Given the description of an element on the screen output the (x, y) to click on. 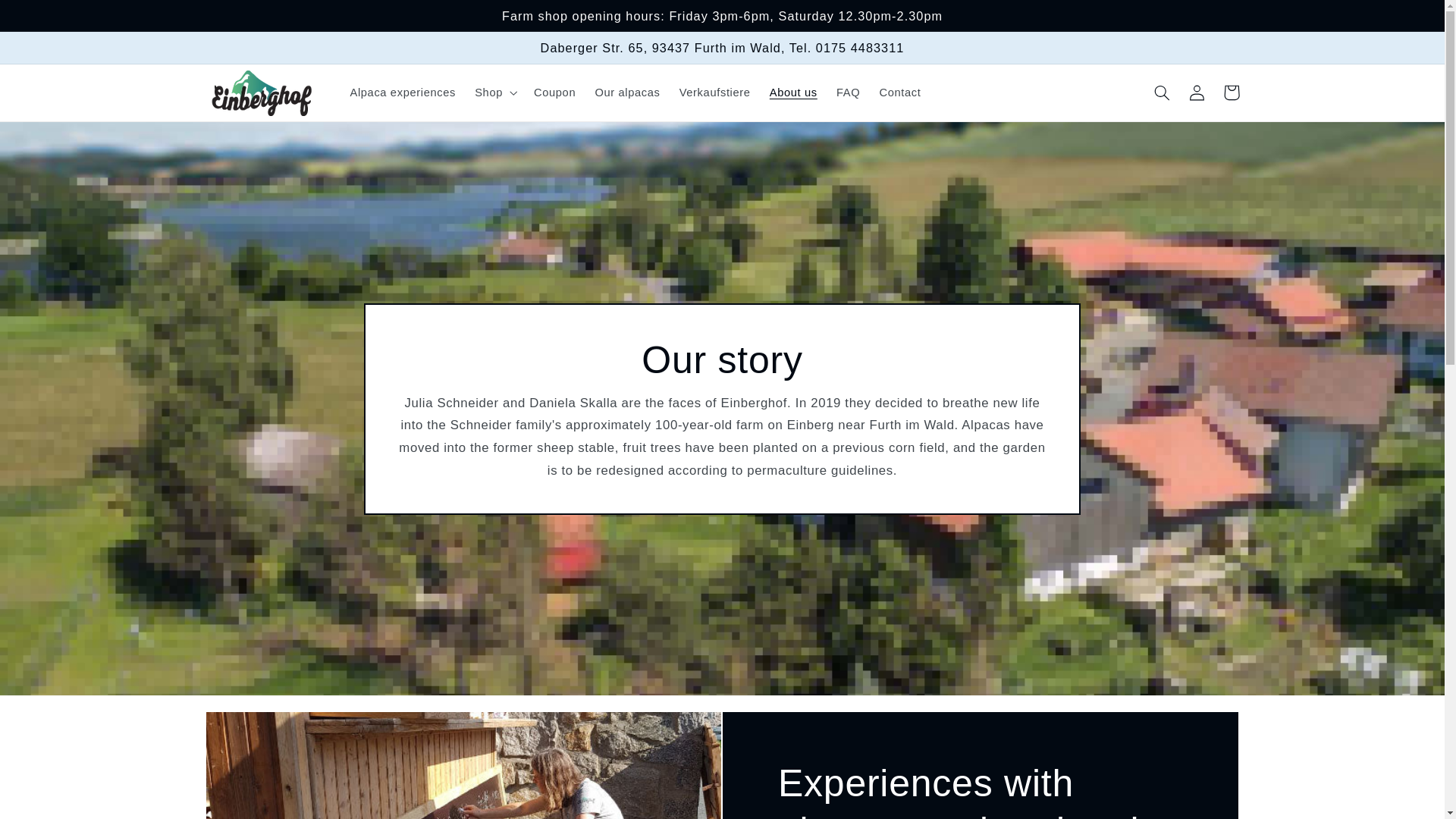
Skip to content (48, 18)
Alpaca experiences (402, 92)
